Given the description of an element on the screen output the (x, y) to click on. 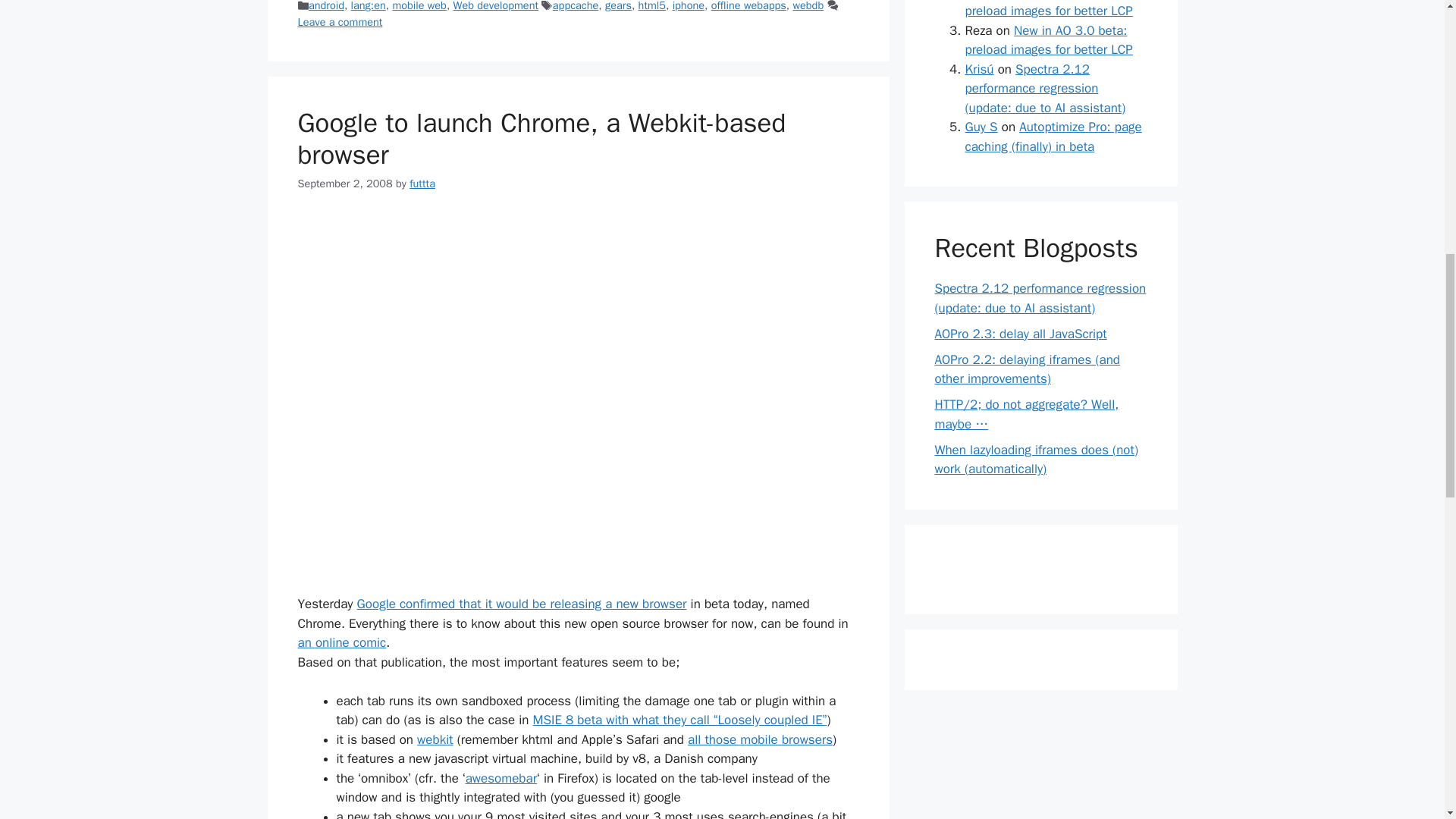
appcache (575, 6)
Leave a comment (339, 21)
offline webapps (748, 6)
Google to launch Chrome, a Webkit-based browser (541, 138)
iphone (688, 6)
android (325, 6)
html5 (652, 6)
webdb (808, 6)
gears (618, 6)
View all posts by futtta (422, 183)
Web development (495, 6)
futtta (422, 183)
lang:en (367, 6)
mobile web (418, 6)
an online comic (341, 642)
